Given the description of an element on the screen output the (x, y) to click on. 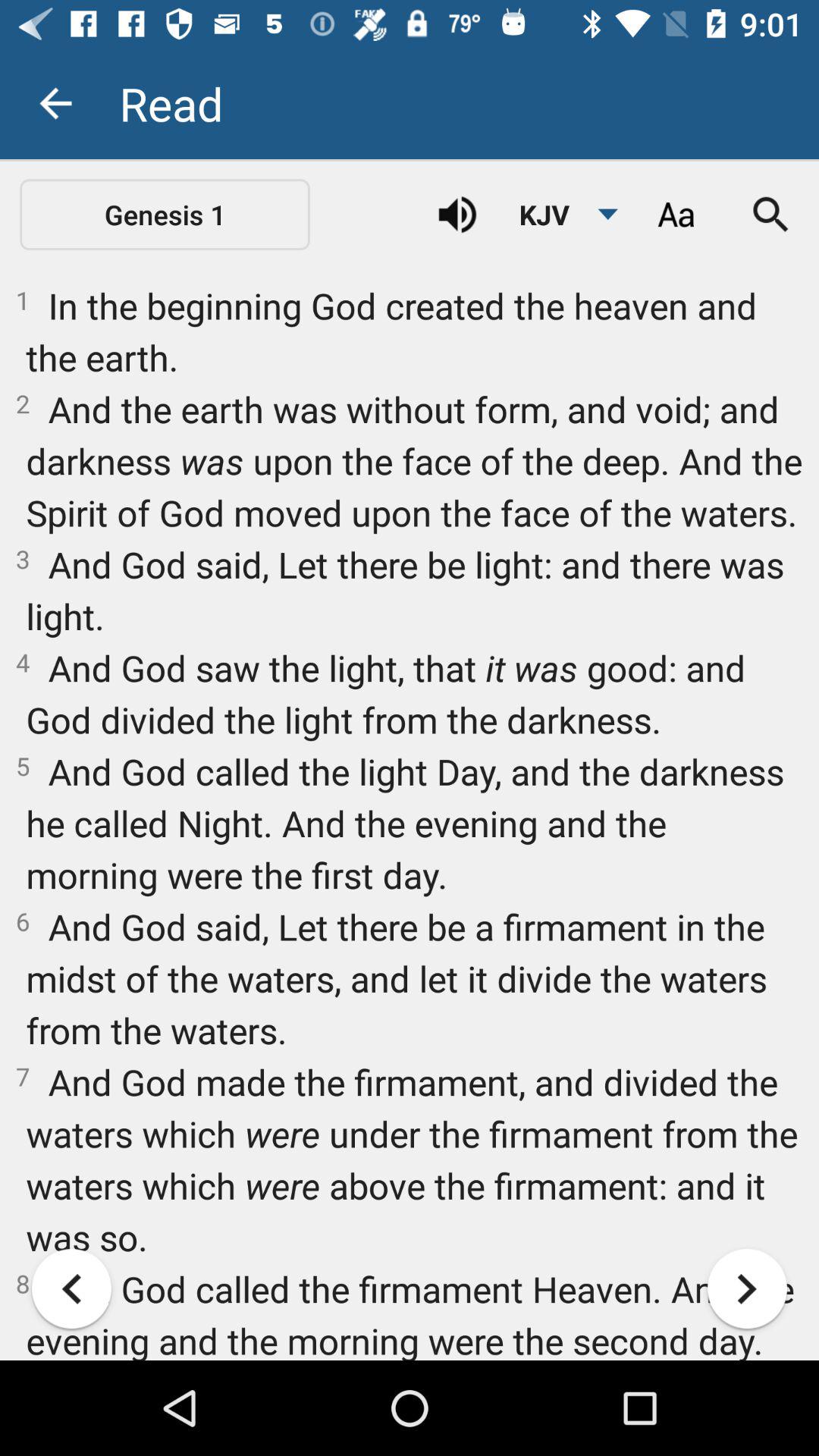
click the genesis 1 icon (164, 214)
